Given the description of an element on the screen output the (x, y) to click on. 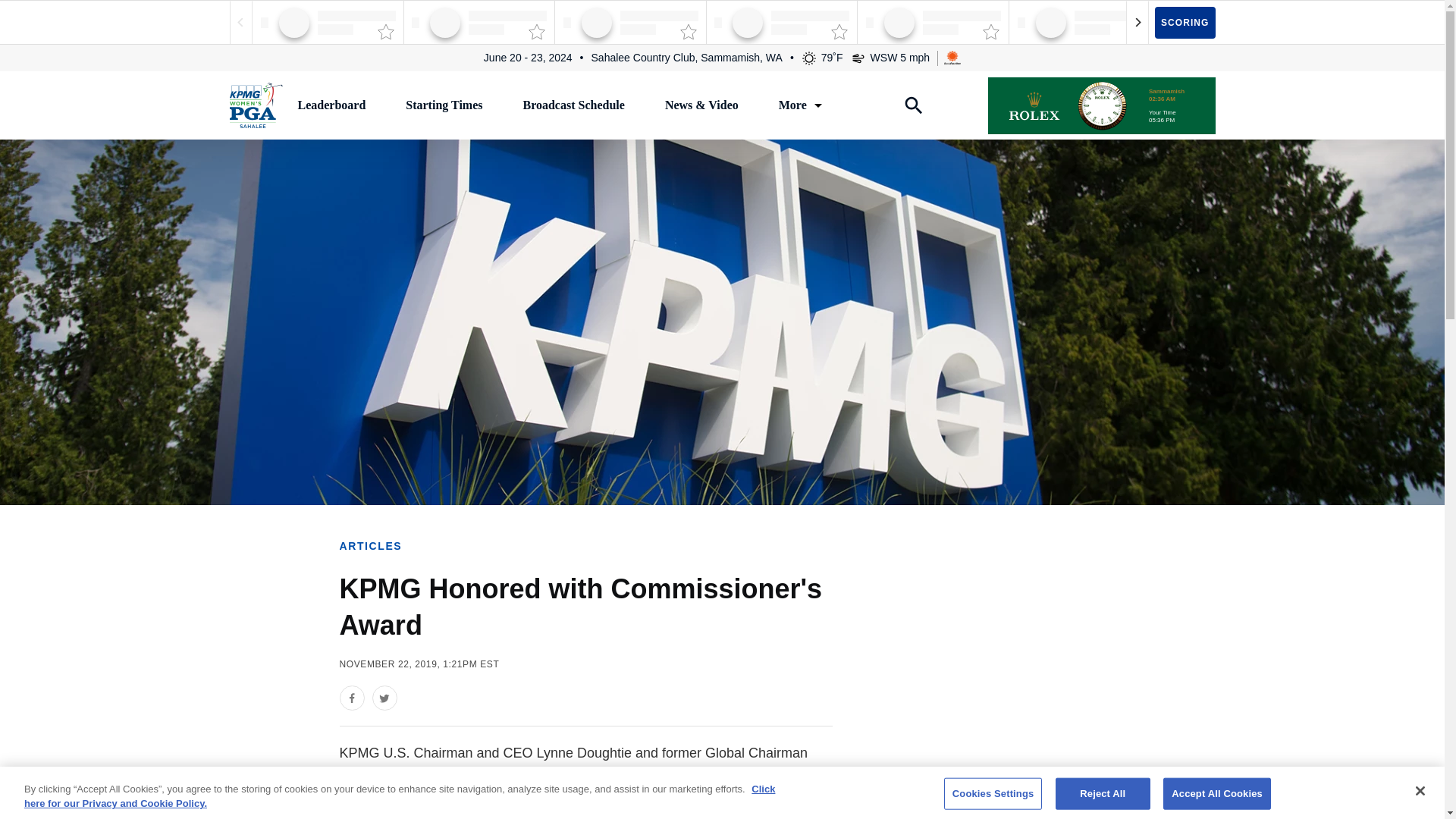
KPMG Rolex 2022 (1100, 105)
Starting Times (443, 105)
Leaderboard (331, 105)
3rd party ad content (1055, 735)
SCORING (1184, 21)
Broadcast Schedule (573, 105)
